Given the description of an element on the screen output the (x, y) to click on. 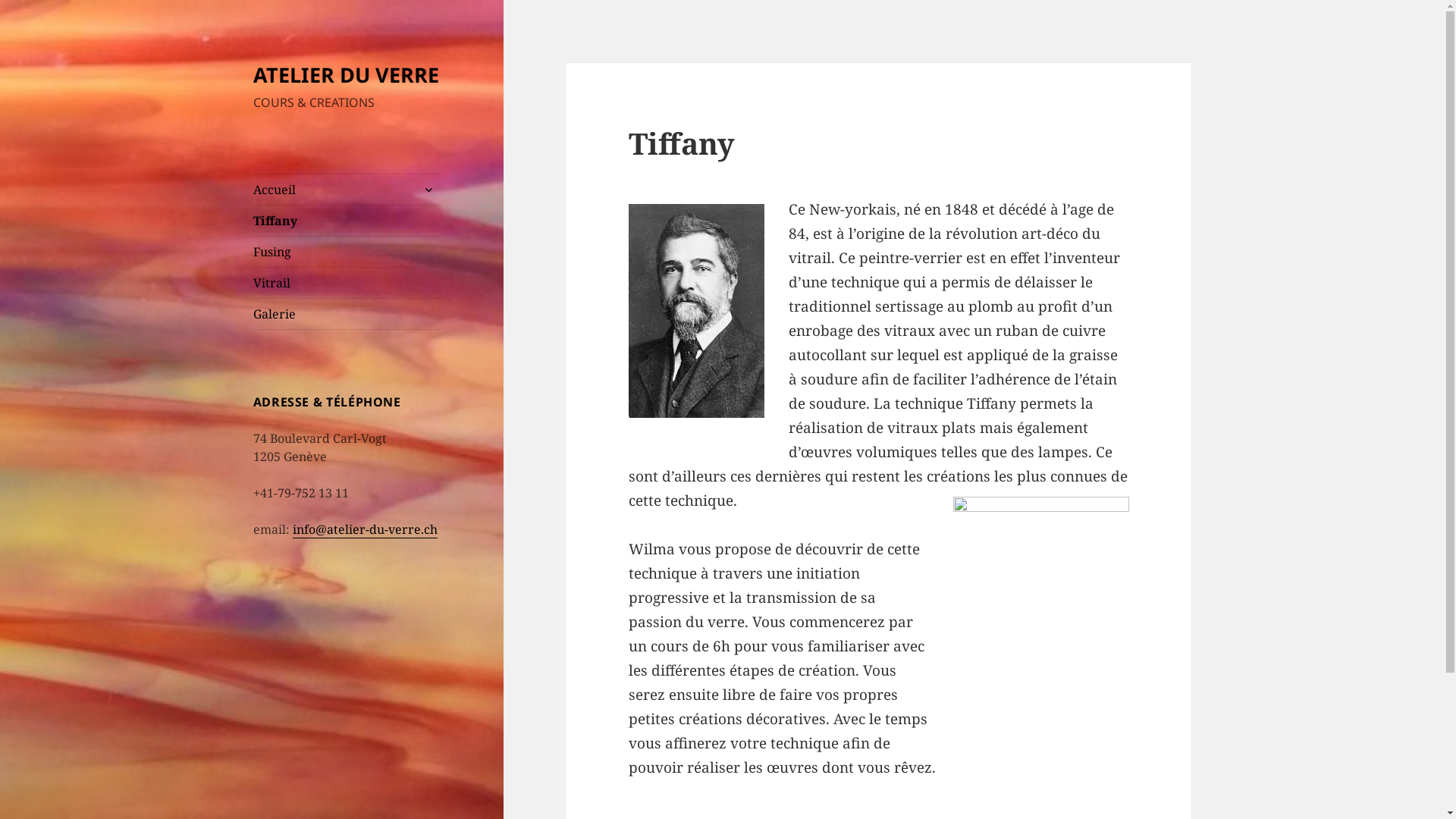
ATELIER DU VERRE Element type: text (346, 74)
Galerie Element type: text (347, 313)
info@atelier-du-verre.ch Element type: text (364, 529)
Tiffany Element type: text (347, 220)
Vitrail Element type: text (347, 282)
Fusing Element type: text (347, 251)
ouvrir le sous-menu Element type: text (428, 189)
Accueil Element type: text (347, 189)
